Given the description of an element on the screen output the (x, y) to click on. 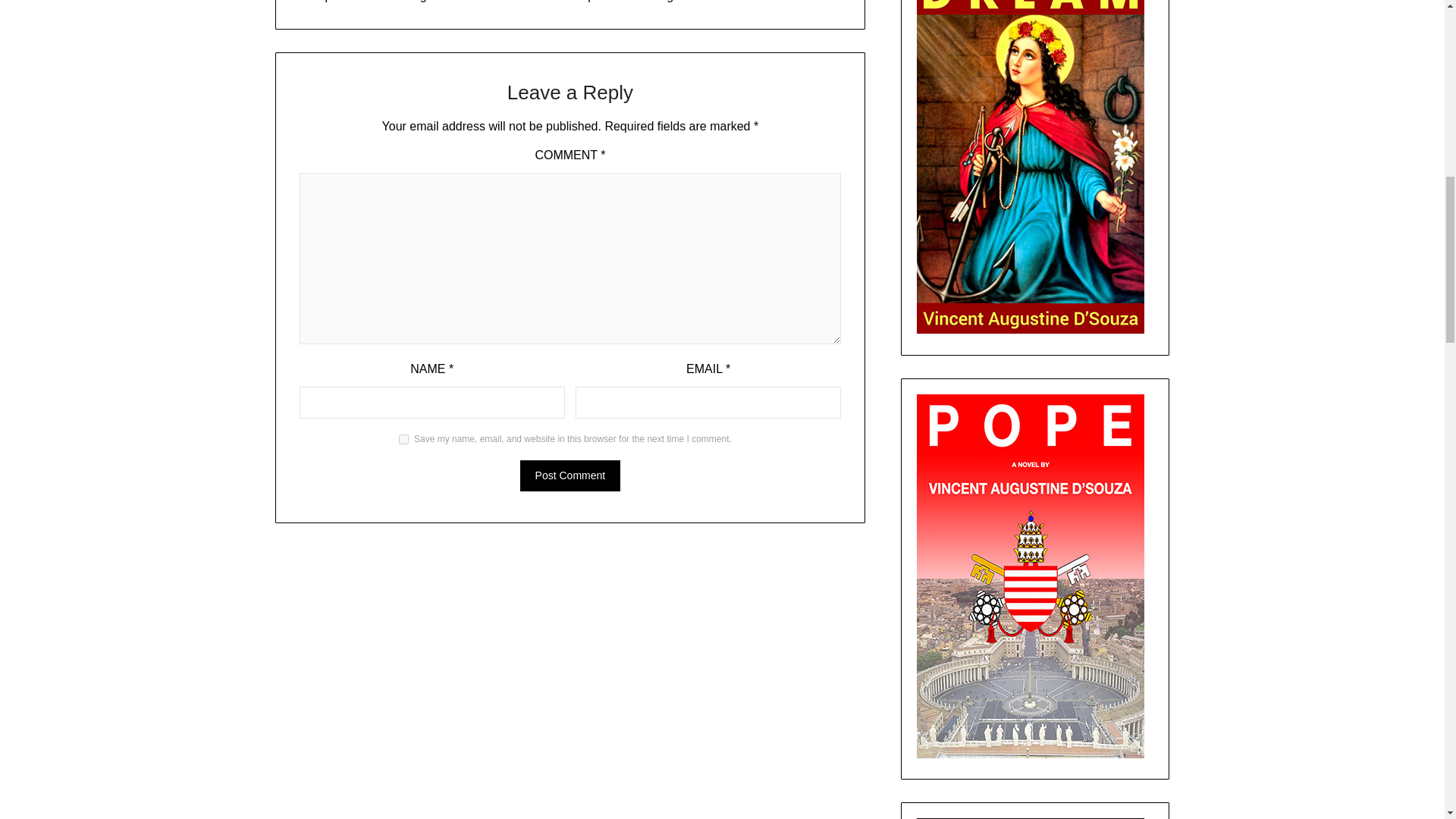
Post Comment (570, 475)
yes (403, 439)
Post Comment (570, 475)
